Given the description of an element on the screen output the (x, y) to click on. 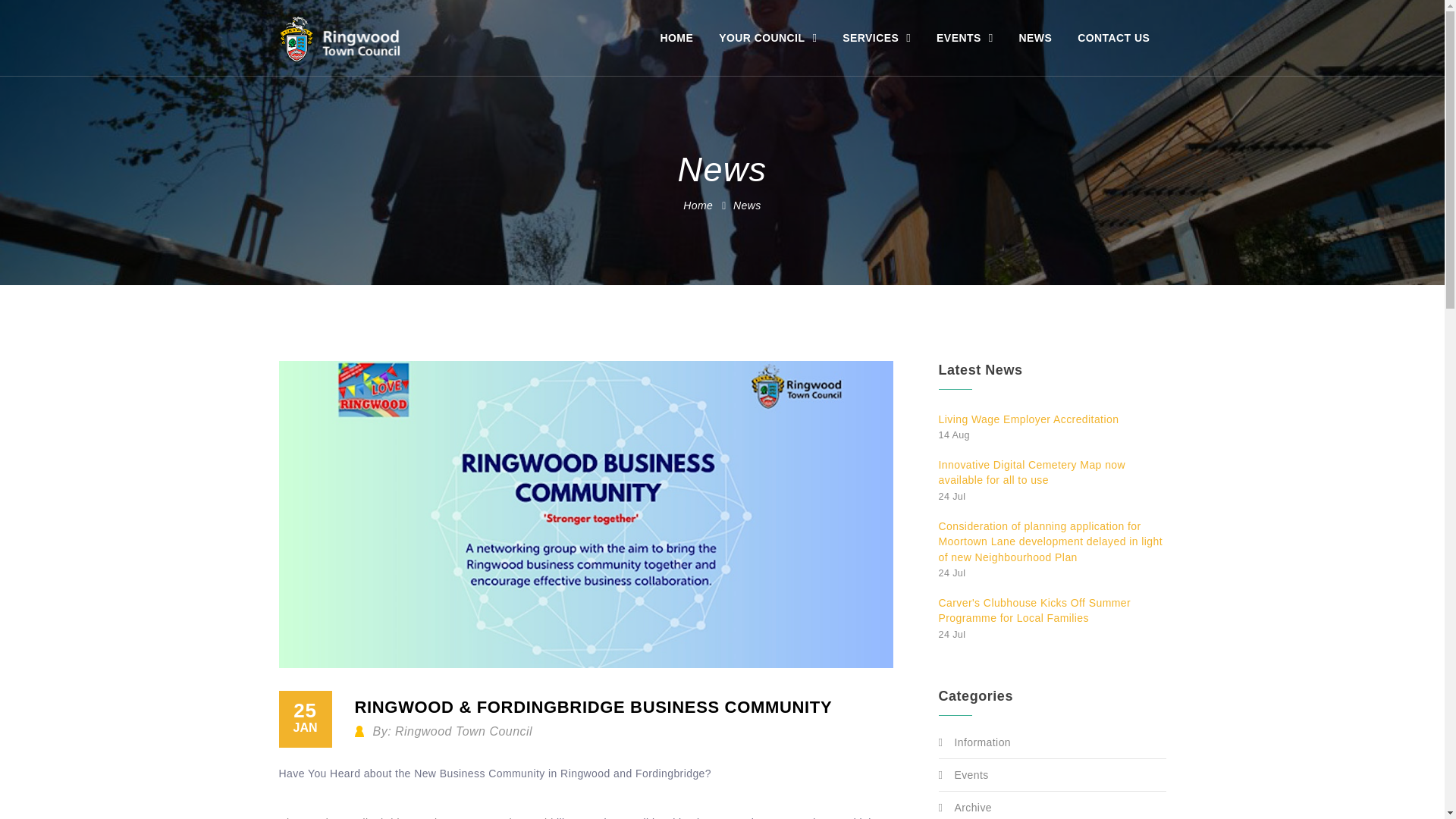
EVENTS (964, 38)
YOUR COUNCIL (767, 38)
SERVICES (876, 38)
News (747, 204)
CONTACT US (1112, 38)
Home (697, 204)
